Given the description of an element on the screen output the (x, y) to click on. 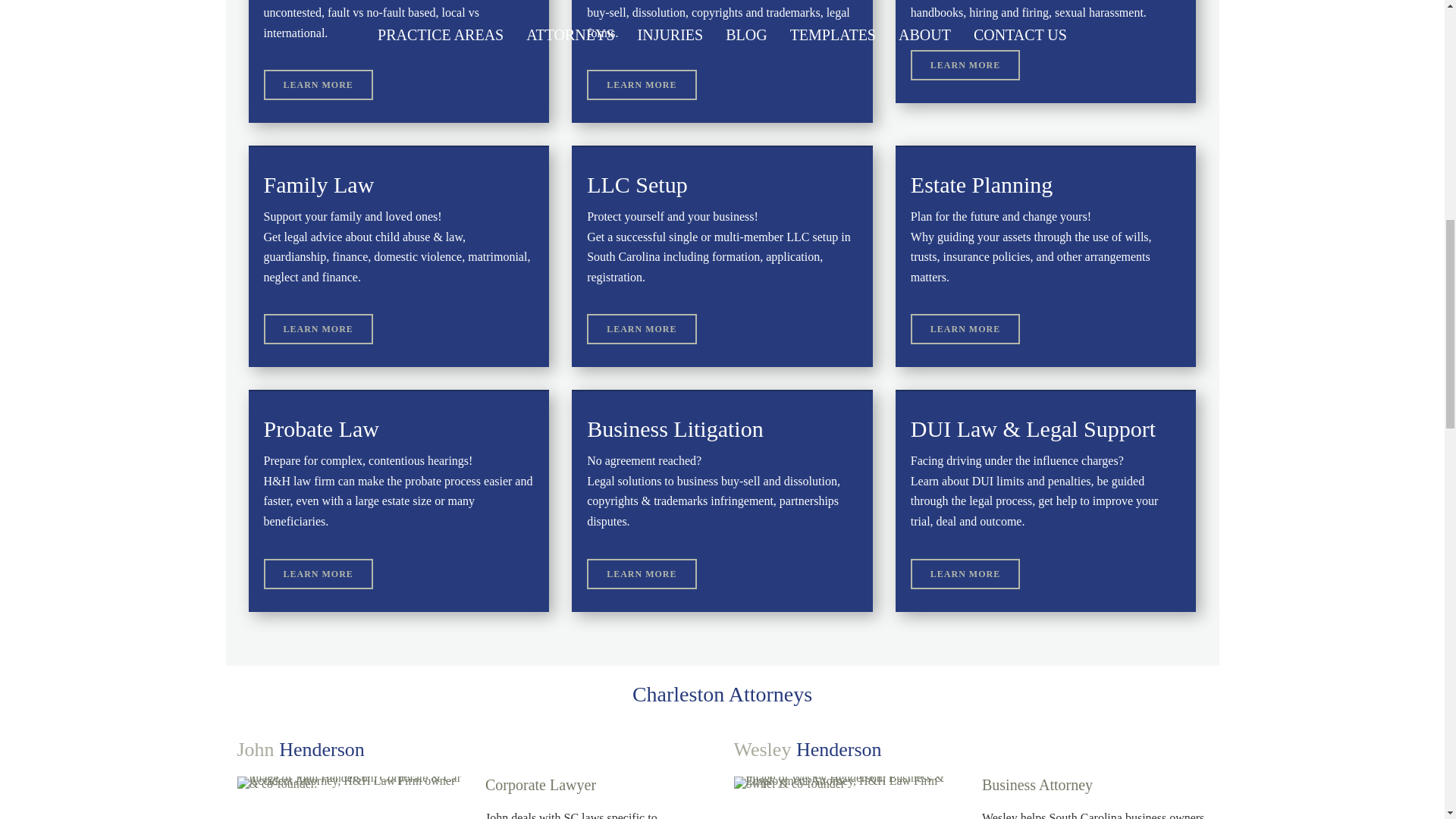
LEARN MORE (965, 573)
LEARN MORE (640, 84)
LEARN MORE (317, 84)
LEARN MORE (640, 328)
LEARN MORE (965, 328)
LEARN MORE (317, 328)
LEARN MORE (640, 573)
LEARN MORE (317, 573)
LEARN MORE (965, 64)
